Given the description of an element on the screen output the (x, y) to click on. 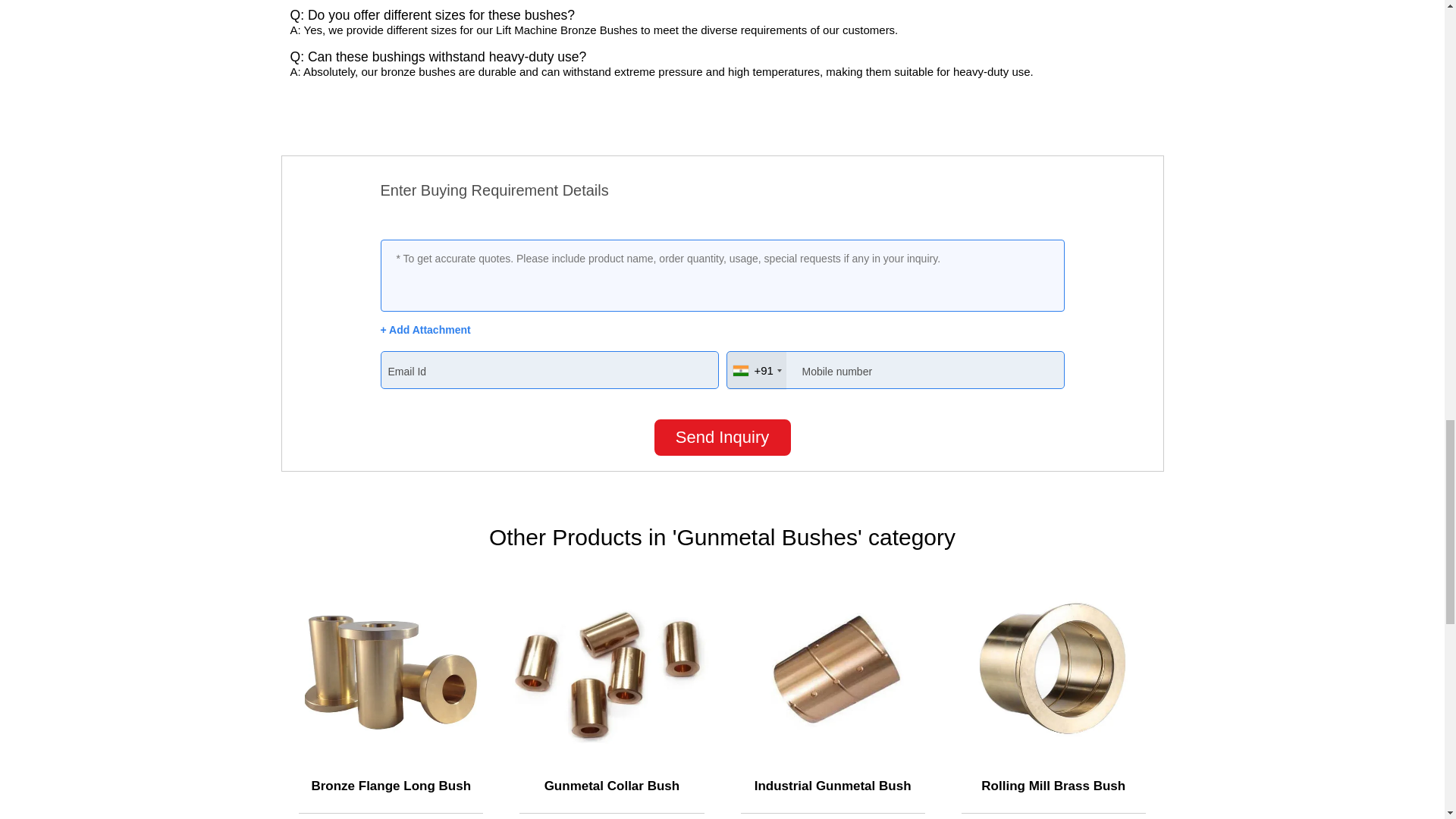
Send Inquiry (721, 437)
